Given the description of an element on the screen output the (x, y) to click on. 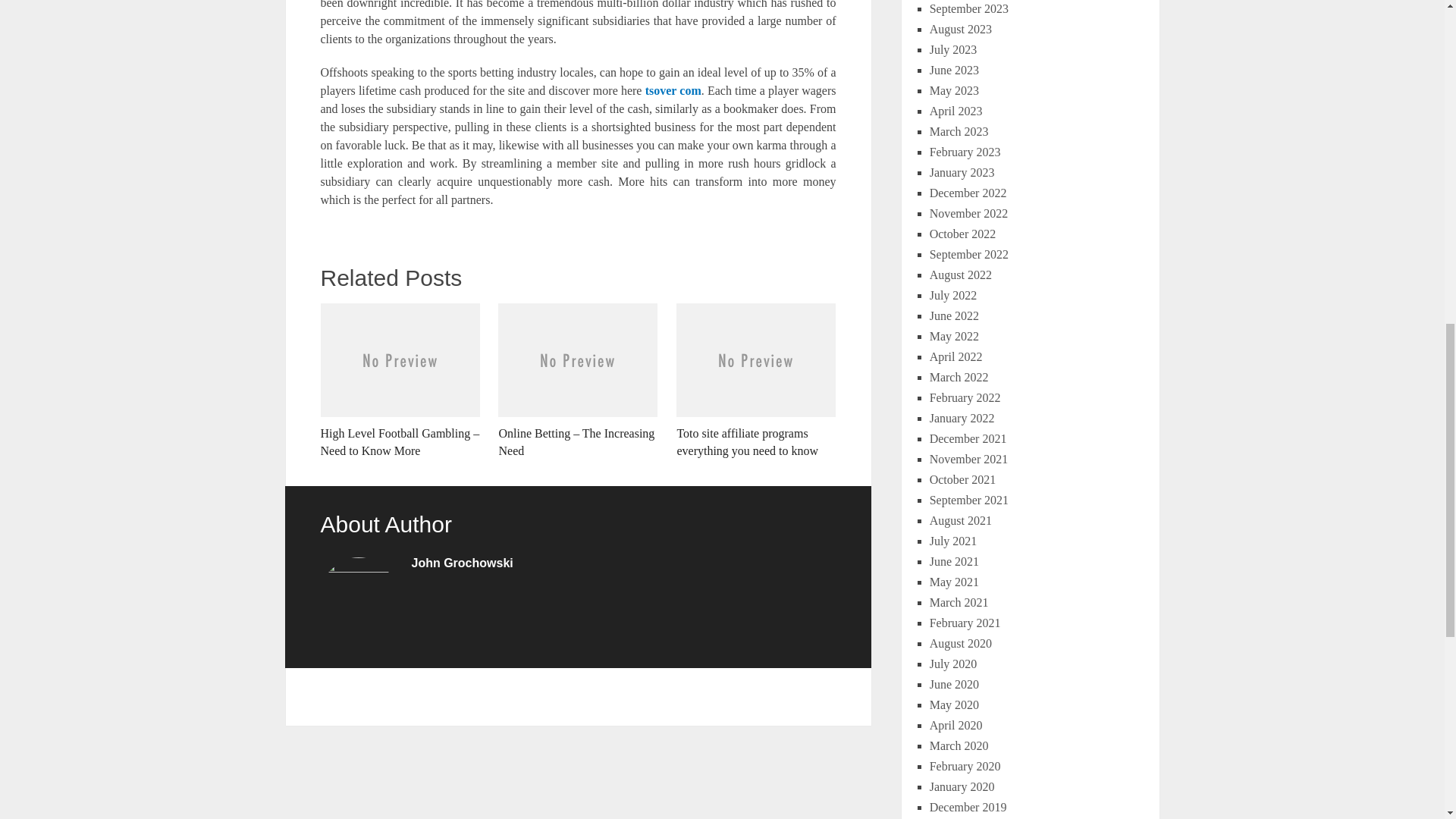
September 2023 (969, 8)
tsover com (673, 90)
August 2023 (960, 29)
Toto site affiliate programs everything you need to know (756, 381)
June 2023 (954, 69)
February 2023 (965, 151)
July 2023 (953, 49)
January 2023 (962, 172)
May 2023 (954, 90)
March 2023 (959, 131)
